Given the description of an element on the screen output the (x, y) to click on. 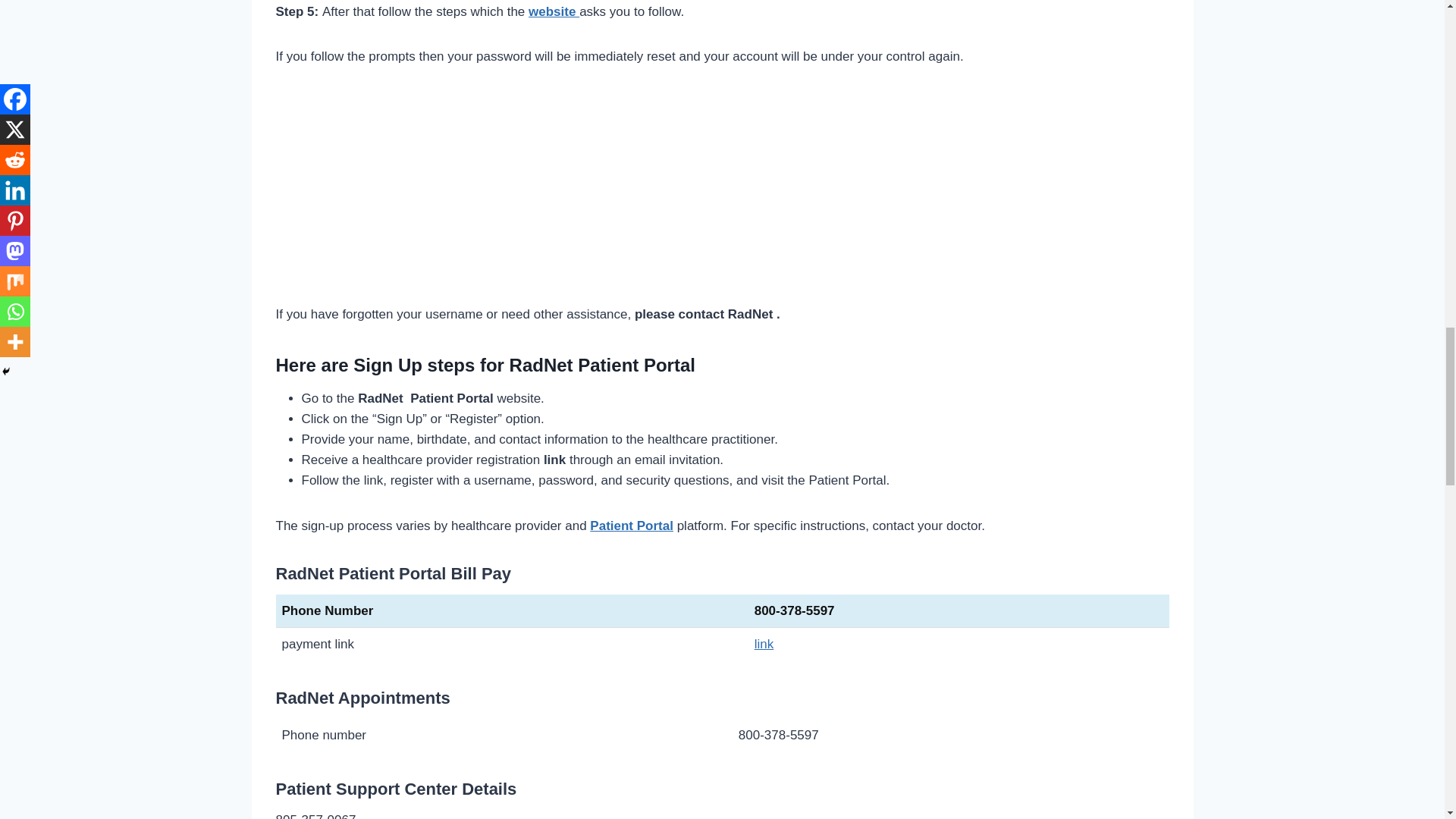
website  (553, 11)
Patient Portal (630, 525)
link (764, 644)
